Given the description of an element on the screen output the (x, y) to click on. 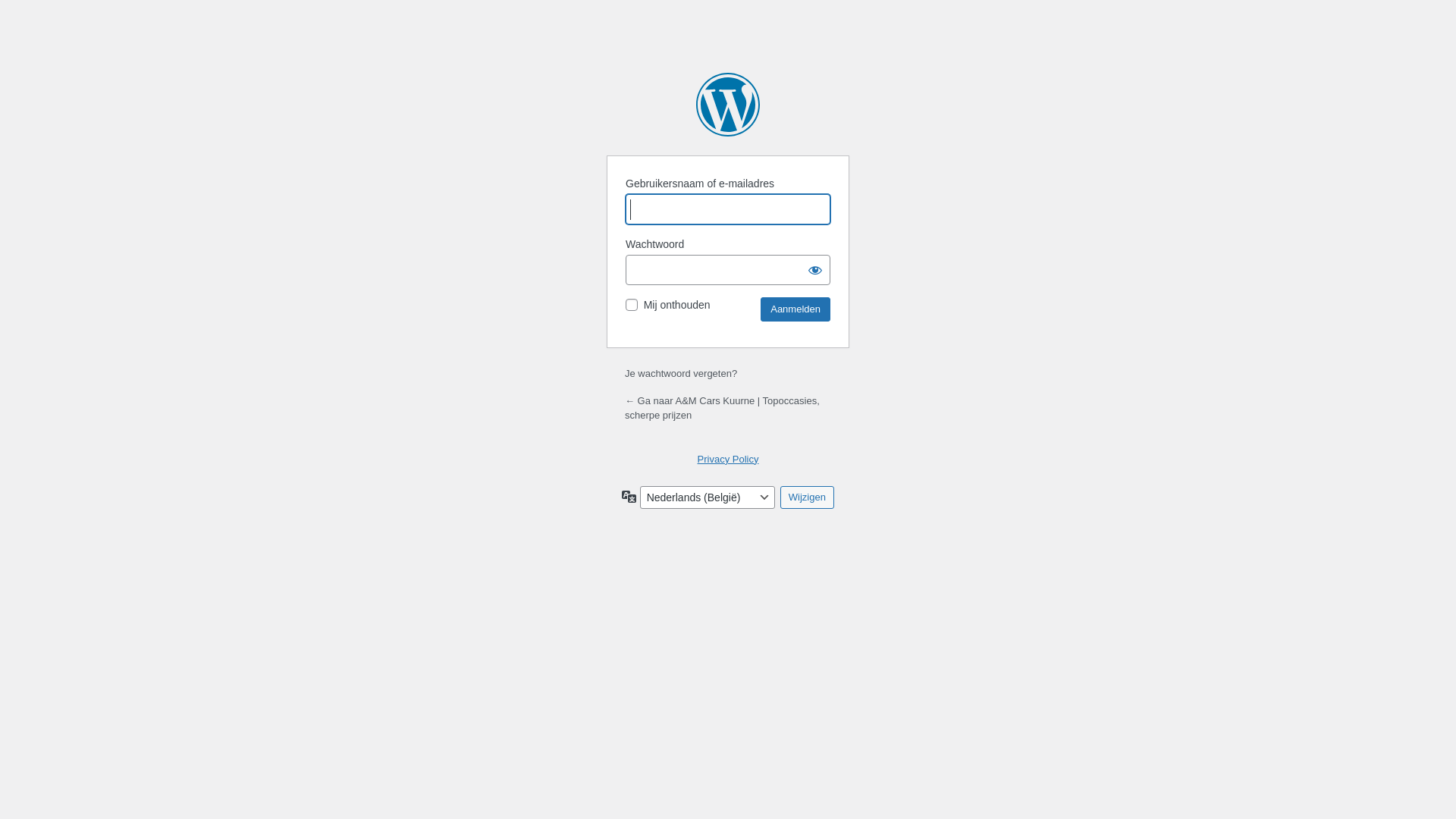
Aanmelden Element type: text (795, 309)
Mogelijk gemaakt door WordPress Element type: text (727, 104)
Wijzigen Element type: text (807, 497)
Je wachtwoord vergeten? Element type: text (680, 373)
Privacy Policy Element type: text (728, 458)
